Given the description of an element on the screen output the (x, y) to click on. 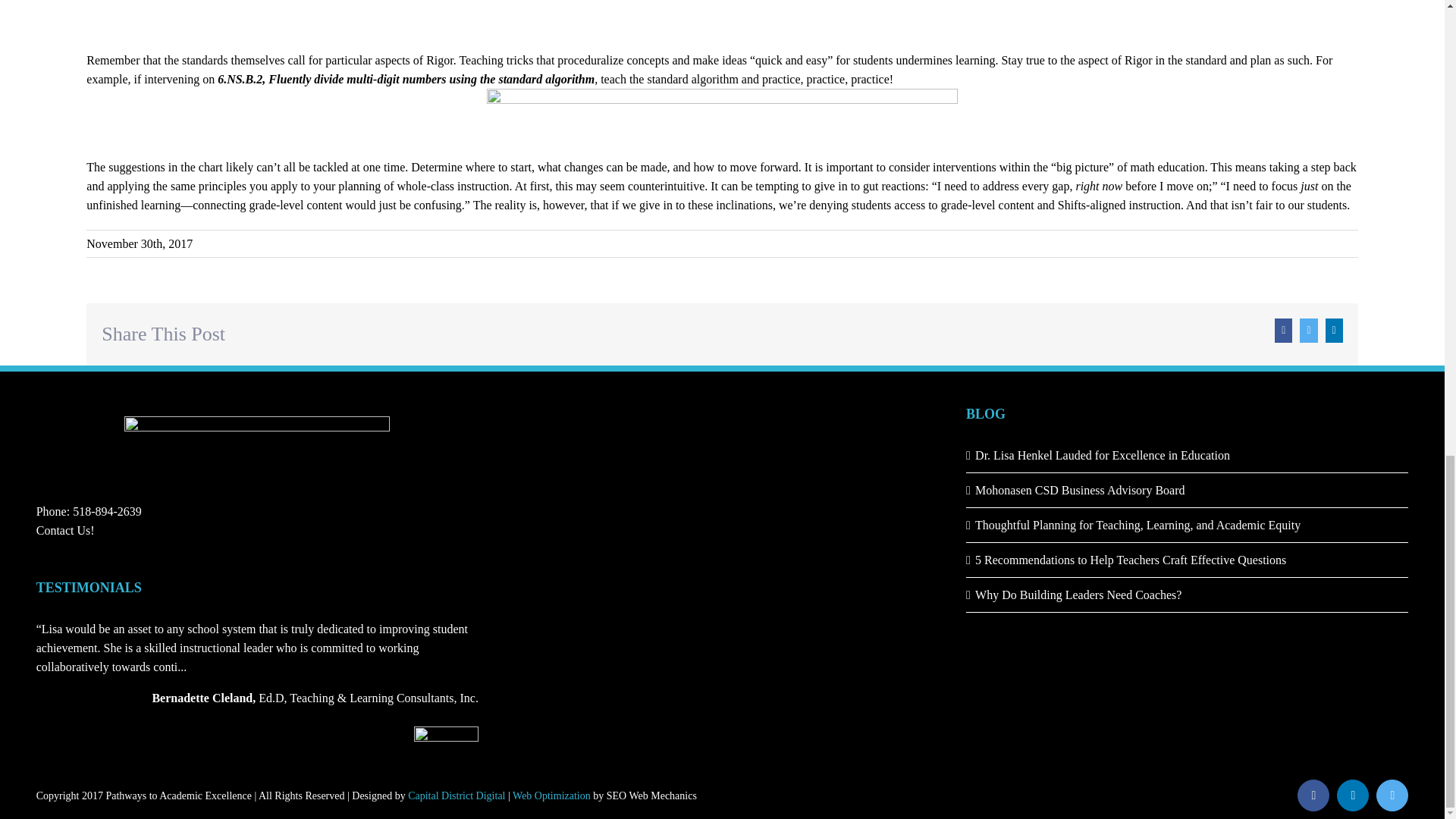
Facebook (1313, 795)
Mohonasen CSD Business Advisory Board (1187, 489)
518-894-2639 (106, 511)
Contact Us! (65, 530)
Twitter (1391, 795)
Dr. Lisa Henkel Lauded for Excellence in Education (1187, 455)
Linkedin (1352, 795)
